Given the description of an element on the screen output the (x, y) to click on. 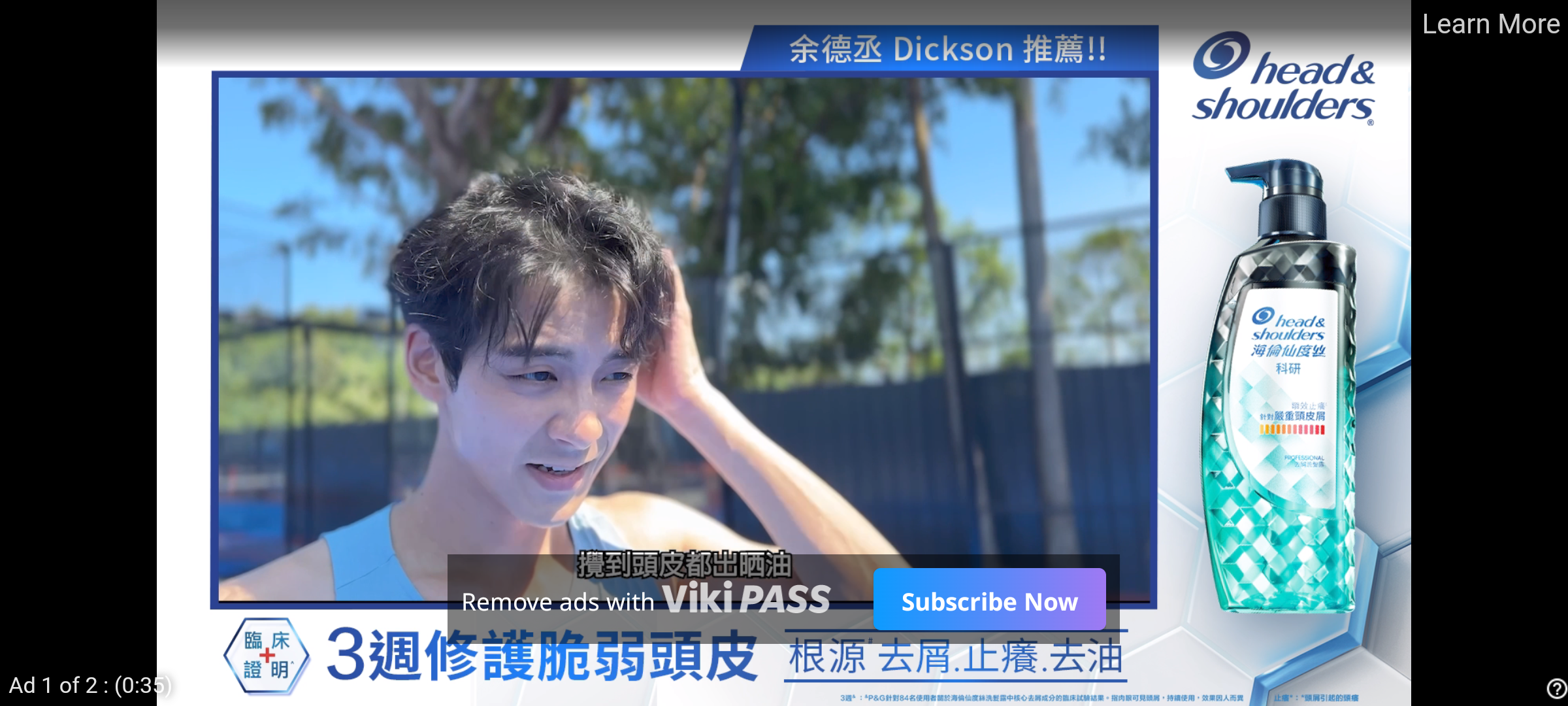
Learn More (1490, 24)
Subscribe Now (989, 599)
Ad 1 of 2 : (0:35) (90, 684)
help_outline_white_24dp_with_3px_trbl_padding (1553, 688)
